Given the description of an element on the screen output the (x, y) to click on. 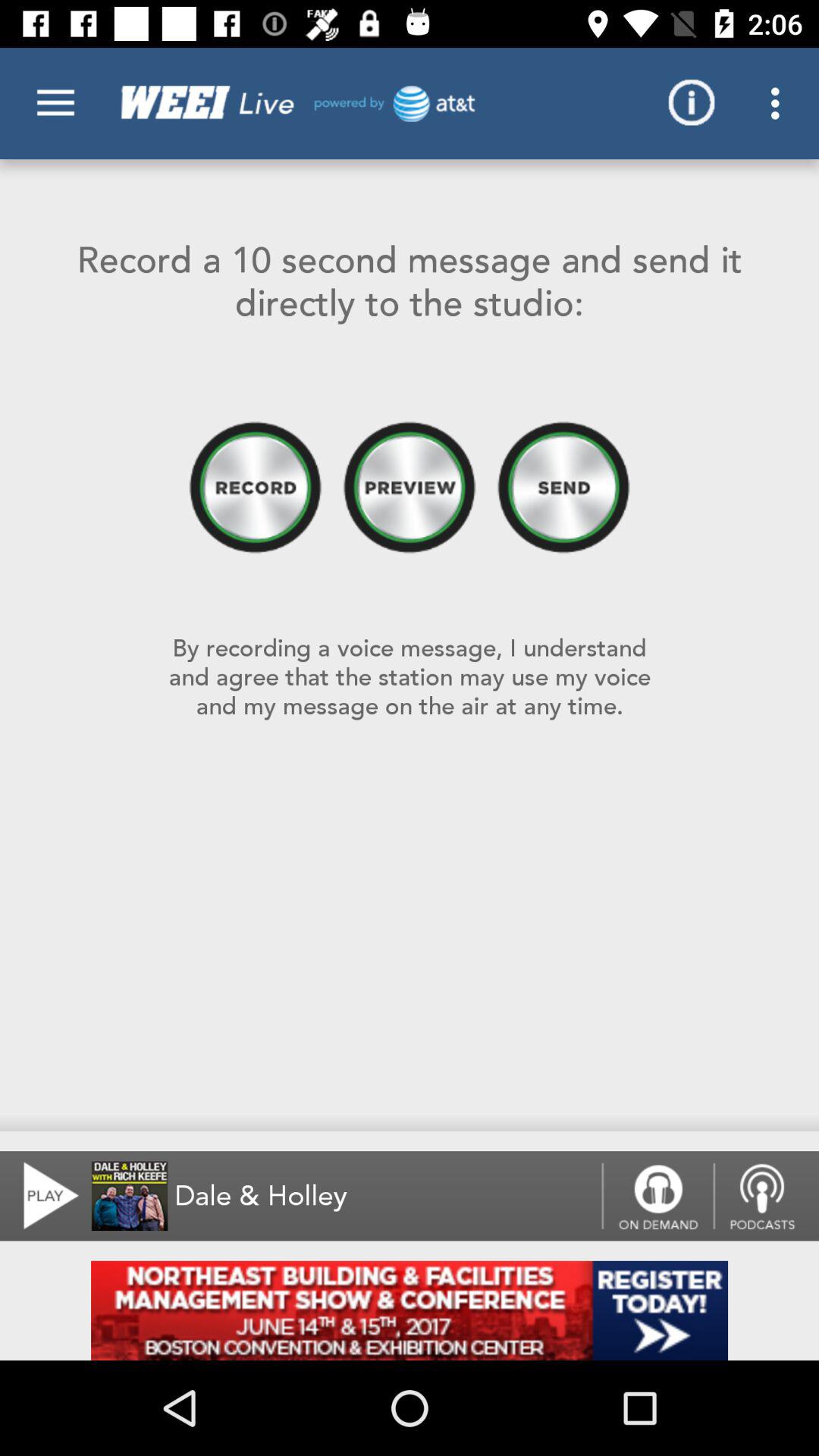
click on advertisements (409, 1310)
